Given the description of an element on the screen output the (x, y) to click on. 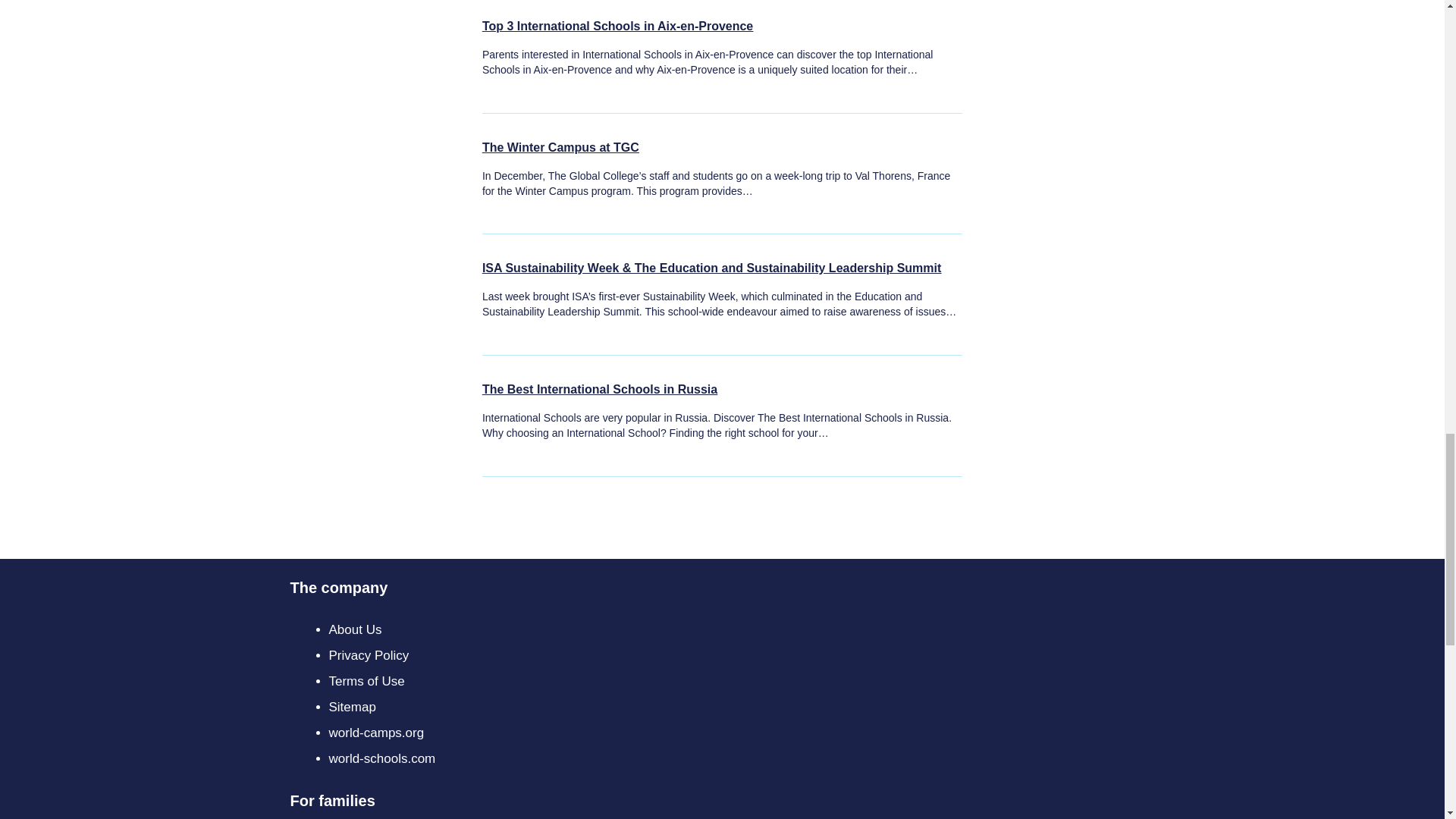
The Winter Campus at TGC (560, 143)
Top 3 International Schools in Aix-en-Provence (616, 22)
